Given the description of an element on the screen output the (x, y) to click on. 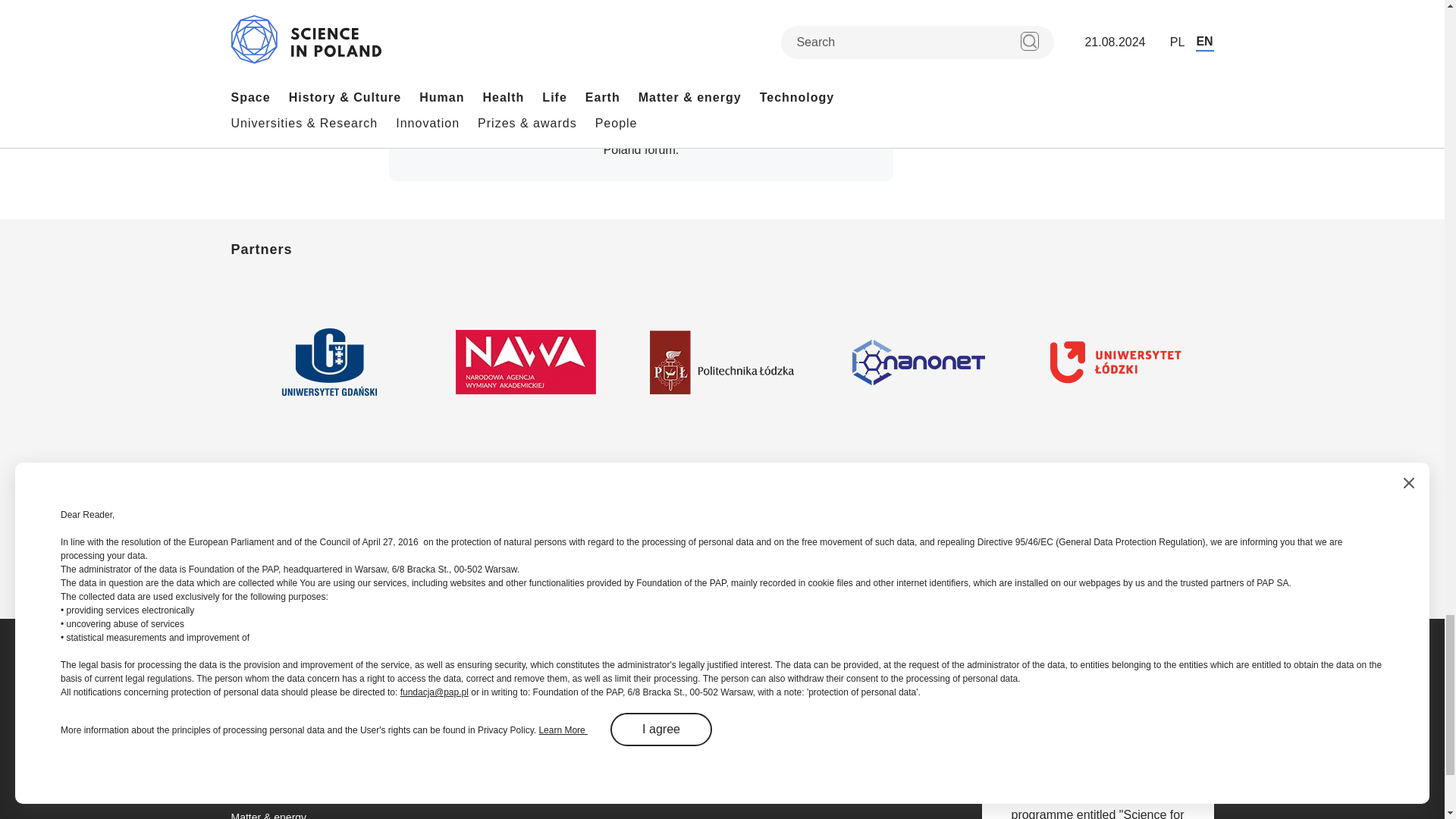
Terms and Conditions (711, 133)
LIFE (663, 2)
LIFE (402, 2)
